Given the description of an element on the screen output the (x, y) to click on. 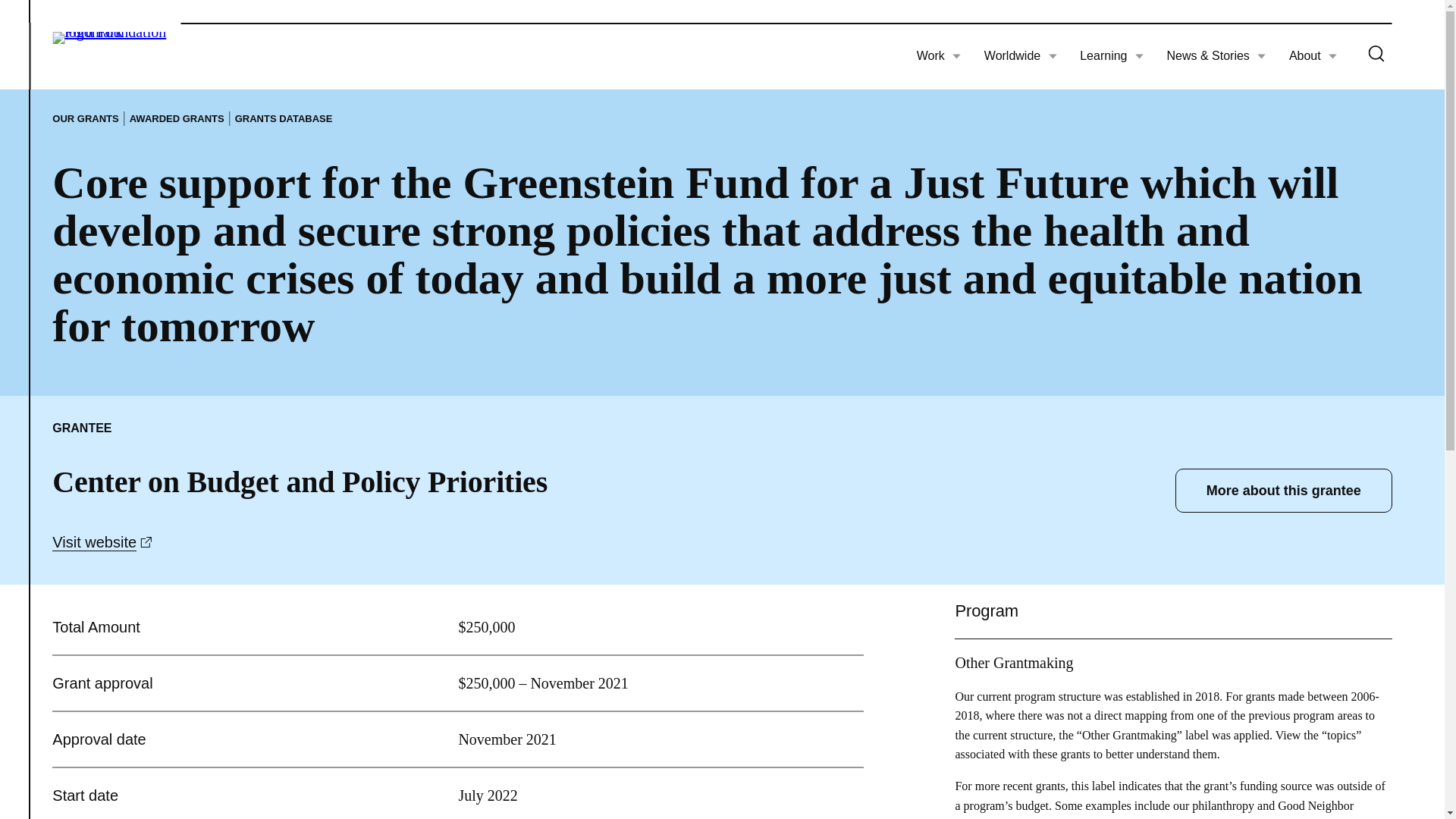
Learning (1111, 55)
Work (938, 55)
Worldwide (1020, 55)
Opens in a new tab (145, 542)
